Given the description of an element on the screen output the (x, y) to click on. 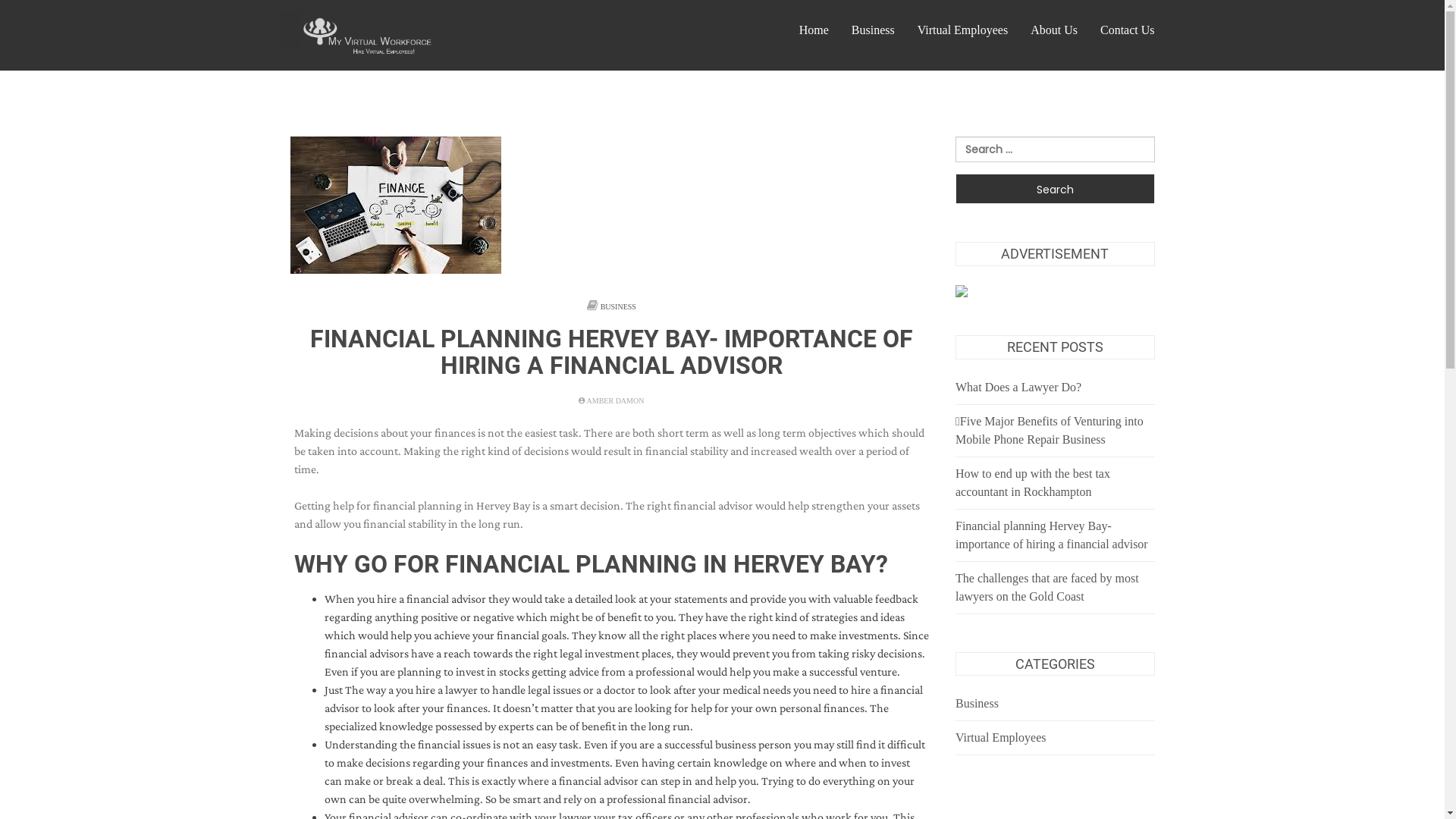
Virtual Employees Element type: text (962, 30)
AMBER DAMON Element type: text (611, 400)
What Does a Lawyer Do? Element type: text (1018, 386)
Business Element type: text (976, 702)
Virtual Employees Element type: text (1000, 737)
BUSINESS Element type: text (618, 306)
About Us Element type: text (1053, 30)
How to end up with the best tax accountant in Rockhampton Element type: text (1032, 482)
Home Element type: text (813, 30)
Contact Us Element type: text (1127, 30)
Search Element type: text (1054, 188)
Business Element type: text (873, 30)
